Given the description of an element on the screen output the (x, y) to click on. 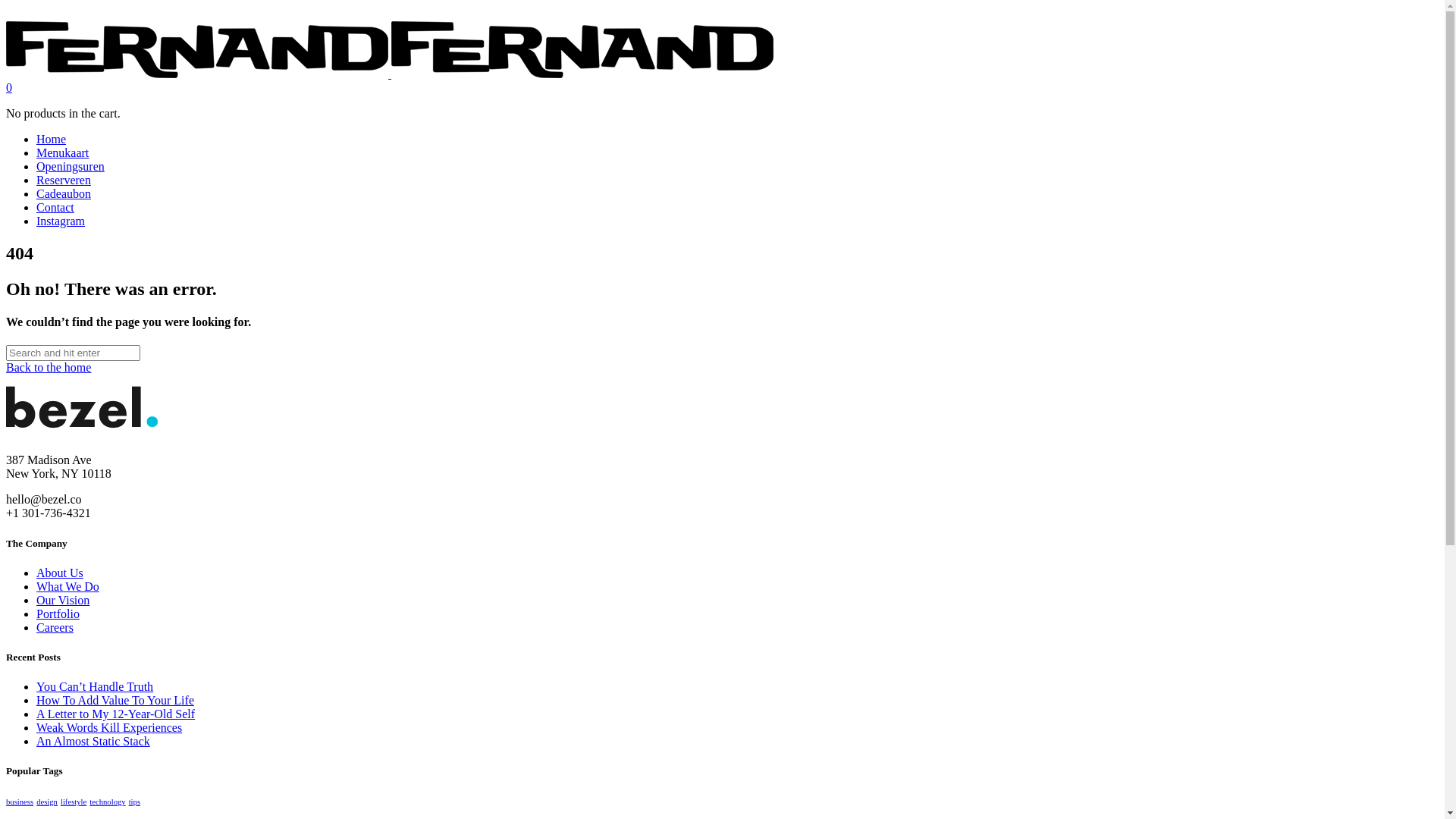
How To Add Value To Your Life Element type: text (115, 699)
Reserveren Element type: text (63, 179)
What We Do Element type: text (67, 586)
Contact Element type: text (55, 206)
business Element type: text (19, 801)
Cadeaubon Element type: text (63, 193)
Back to the home Element type: text (48, 366)
An Almost Static Stack Element type: text (93, 740)
A Letter to My 12-Year-Old Self Element type: text (115, 713)
Weak Words Kill Experiences Element type: text (109, 727)
Openingsuren Element type: text (70, 166)
Instagram Element type: text (60, 220)
technology Element type: text (107, 801)
tips Element type: text (134, 801)
Our Vision Element type: text (62, 599)
Home Element type: text (50, 138)
Careers Element type: text (54, 627)
lifestyle Element type: text (73, 801)
About Us Element type: text (59, 572)
Menukaart Element type: text (62, 152)
0 Element type: text (9, 87)
Portfolio Element type: text (57, 613)
design Element type: text (46, 801)
